Given the description of an element on the screen output the (x, y) to click on. 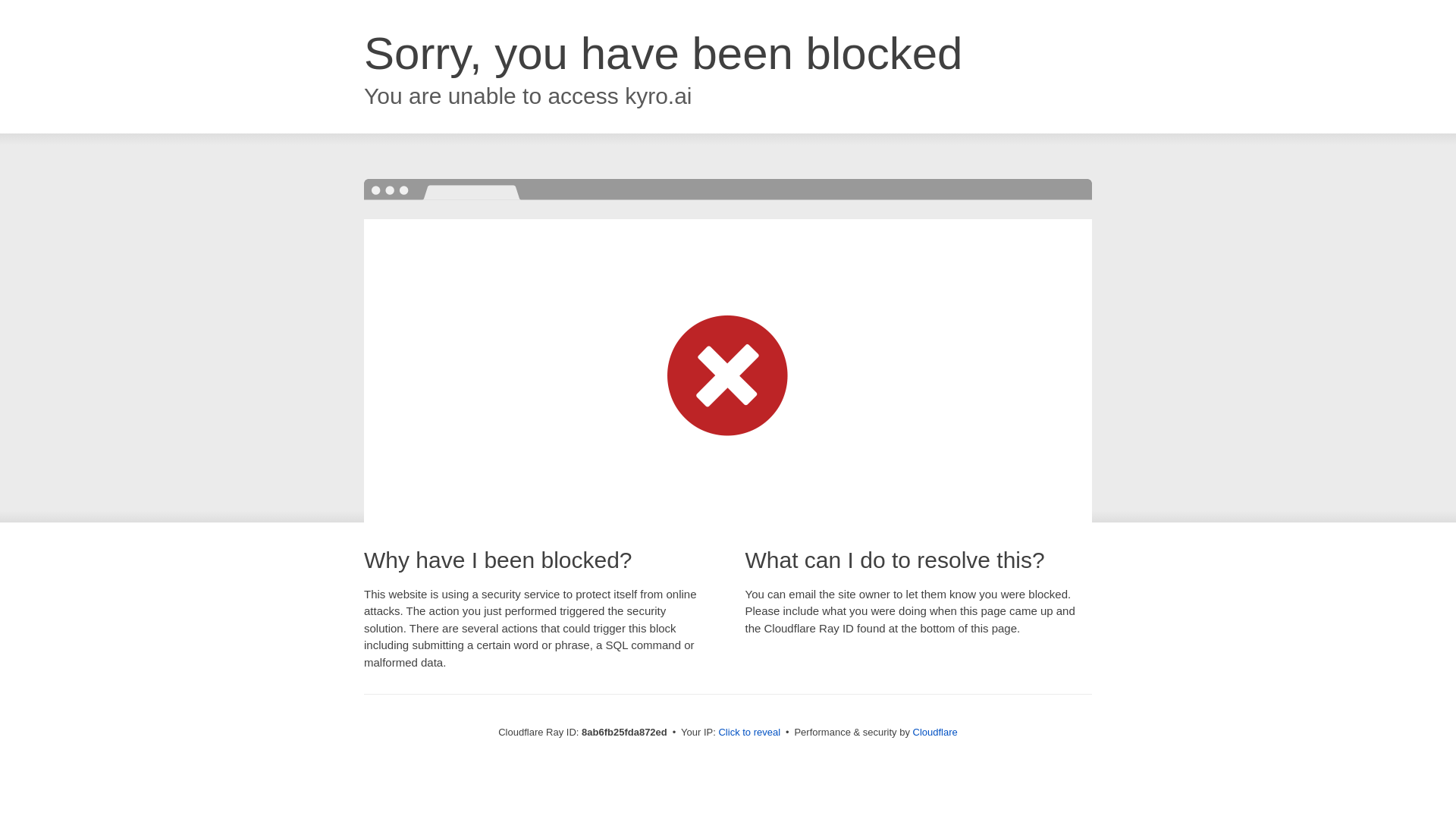
Click to reveal (748, 732)
Cloudflare (935, 731)
